Given the description of an element on the screen output the (x, y) to click on. 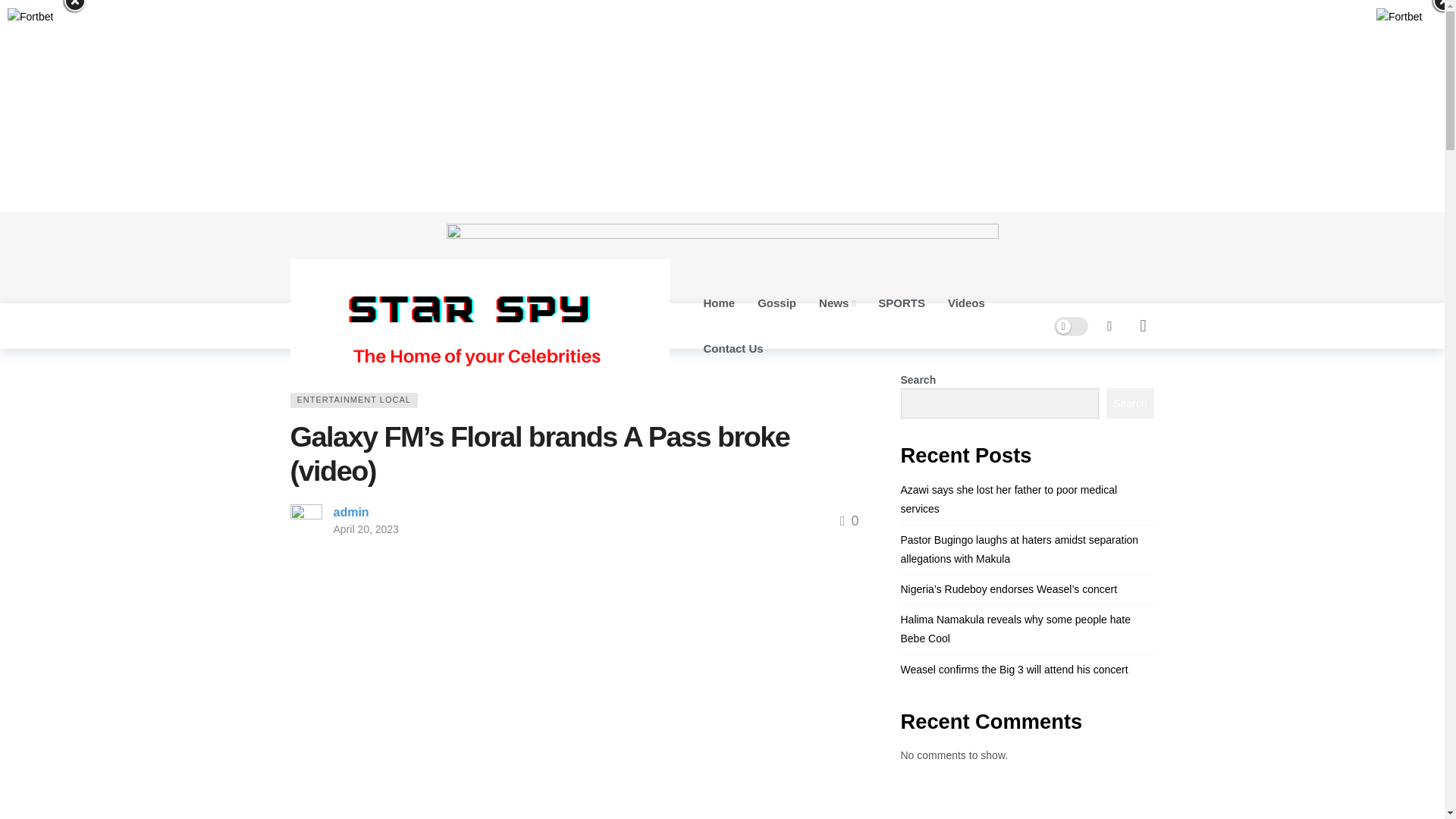
April 20, 2023 (365, 529)
Home (718, 302)
Videos (965, 302)
20 (408, 368)
Home (301, 368)
ENTERTAINMENT LOCAL (352, 399)
admin (351, 512)
News (837, 302)
0 (849, 520)
Contact Us (732, 348)
SPORTS (901, 302)
April (377, 368)
Gossip (776, 302)
2023 (341, 368)
